Given the description of an element on the screen output the (x, y) to click on. 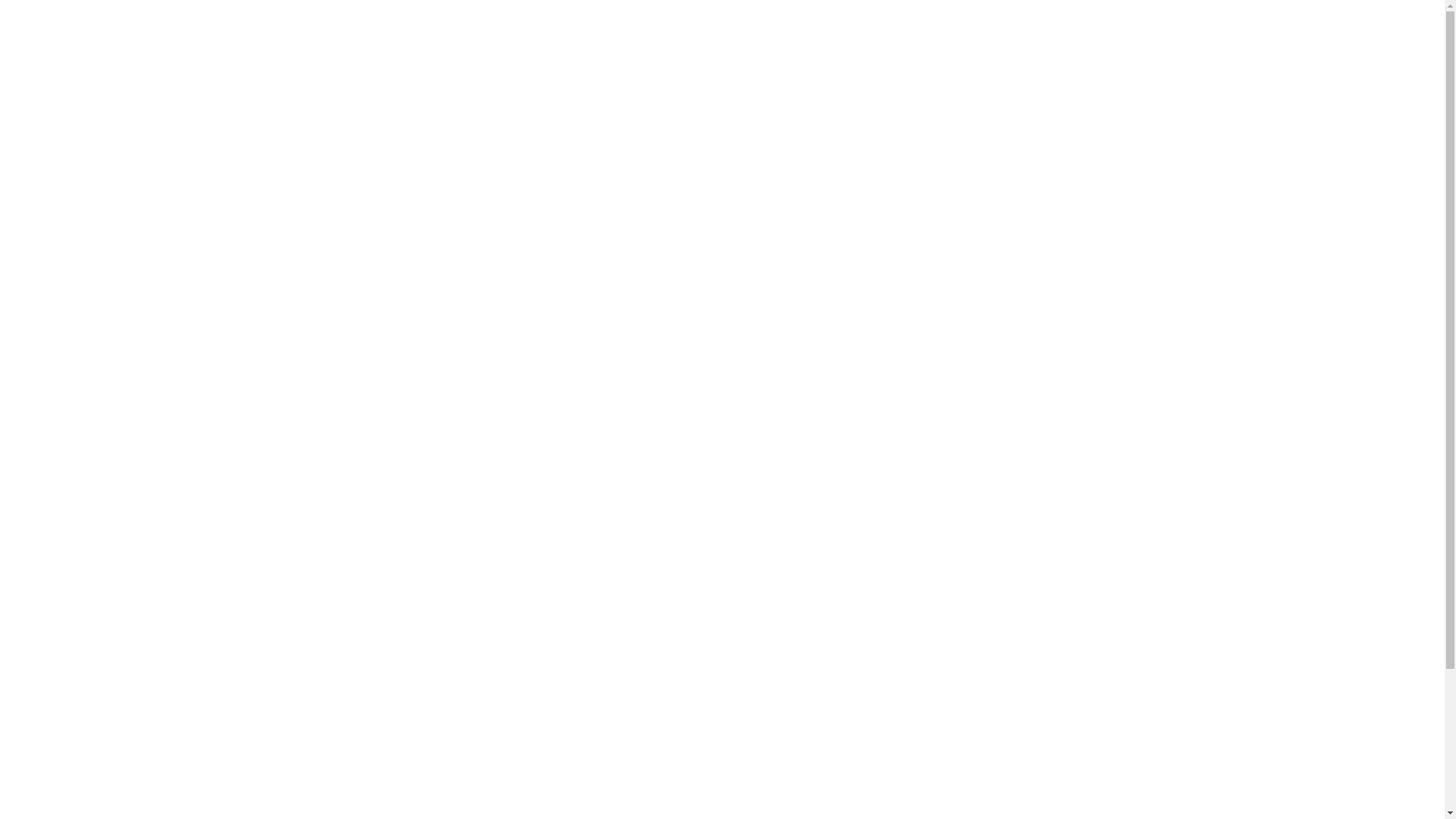
Home Element type: text (632, 778)
What You Need To Know Element type: text (811, 34)
Blog Element type: text (1010, 34)
On demand support in critical times of need. Element type: hover (415, 34)
About Us Element type: text (939, 34)
About Us Element type: text (641, 803)
